Given the description of an element on the screen output the (x, y) to click on. 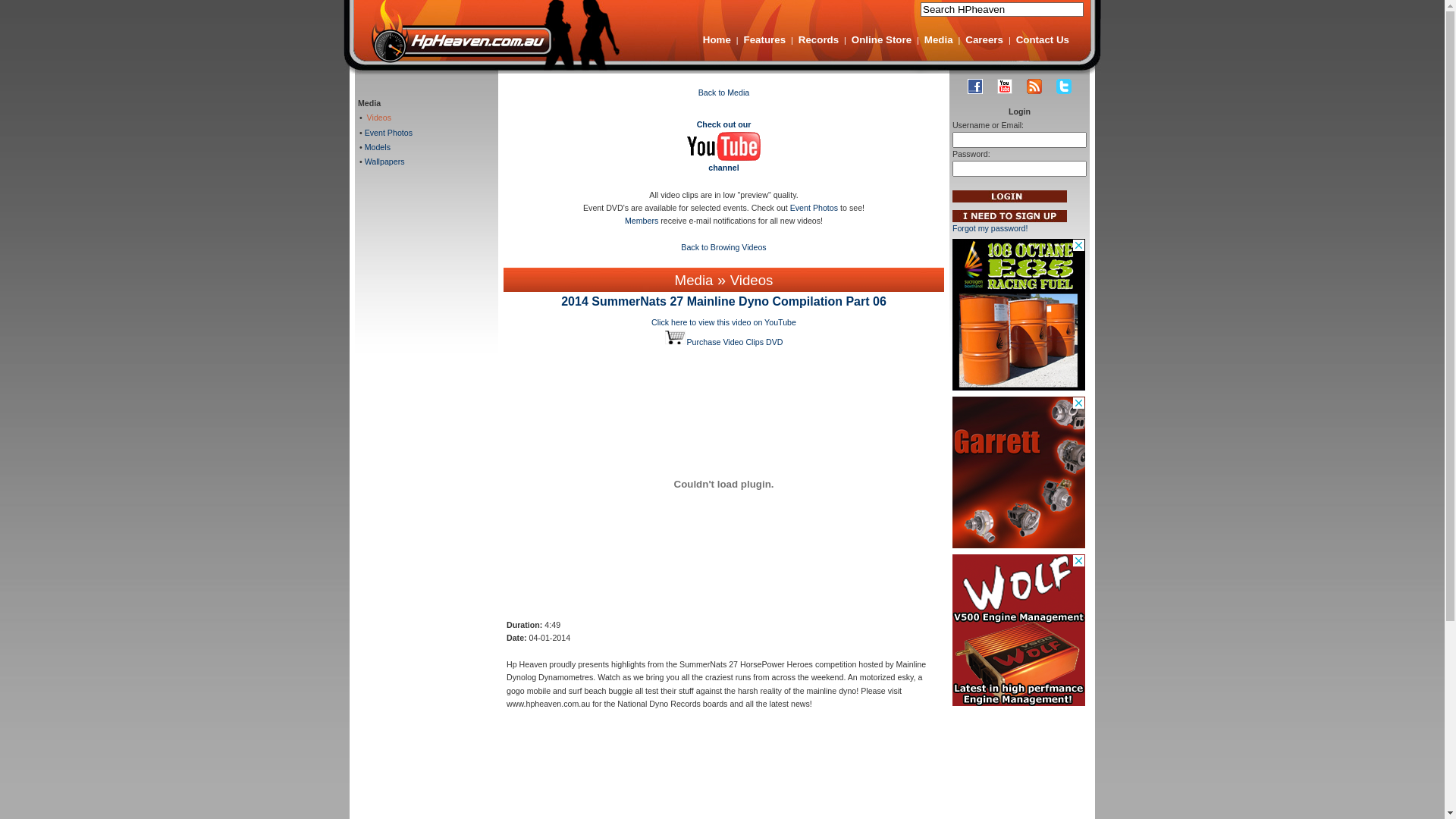
Careers Element type: text (984, 39)
 Models Element type: text (376, 146)
3rd party ad content Element type: hover (1018, 472)
Check out our YouTube channel Element type: hover (1004, 86)
Contact Us Element type: text (1042, 39)
Online Store Element type: text (881, 39)
  Videos Element type: text (376, 117)
Check out our

channel Element type: text (724, 145)
Back to Browing Videos Element type: text (722, 246)
Members Element type: text (641, 220)
3rd party ad content Element type: hover (1018, 630)
 Wallpapers Element type: text (383, 161)
Event Photos Element type: text (813, 207)
Subscribe to our RSS Feed Element type: hover (1033, 86)
Click here to view this video on YouTube Element type: text (723, 321)
Media Element type: text (693, 280)
Back to Media Element type: text (723, 92)
Media Element type: text (938, 39)
3rd party ad content Element type: hover (1018, 314)
Features Element type: text (764, 39)
Records Element type: text (818, 39)
Home Element type: text (716, 39)
See us on Facebook Element type: hover (974, 86)
 Event Photos Element type: text (387, 132)
Follow us on Twitter Element type: hover (1063, 86)
Forgot my password! Element type: text (990, 227)
Purchase Video Clips DVD Element type: text (723, 341)
Videos Element type: text (751, 280)
